Given the description of an element on the screen output the (x, y) to click on. 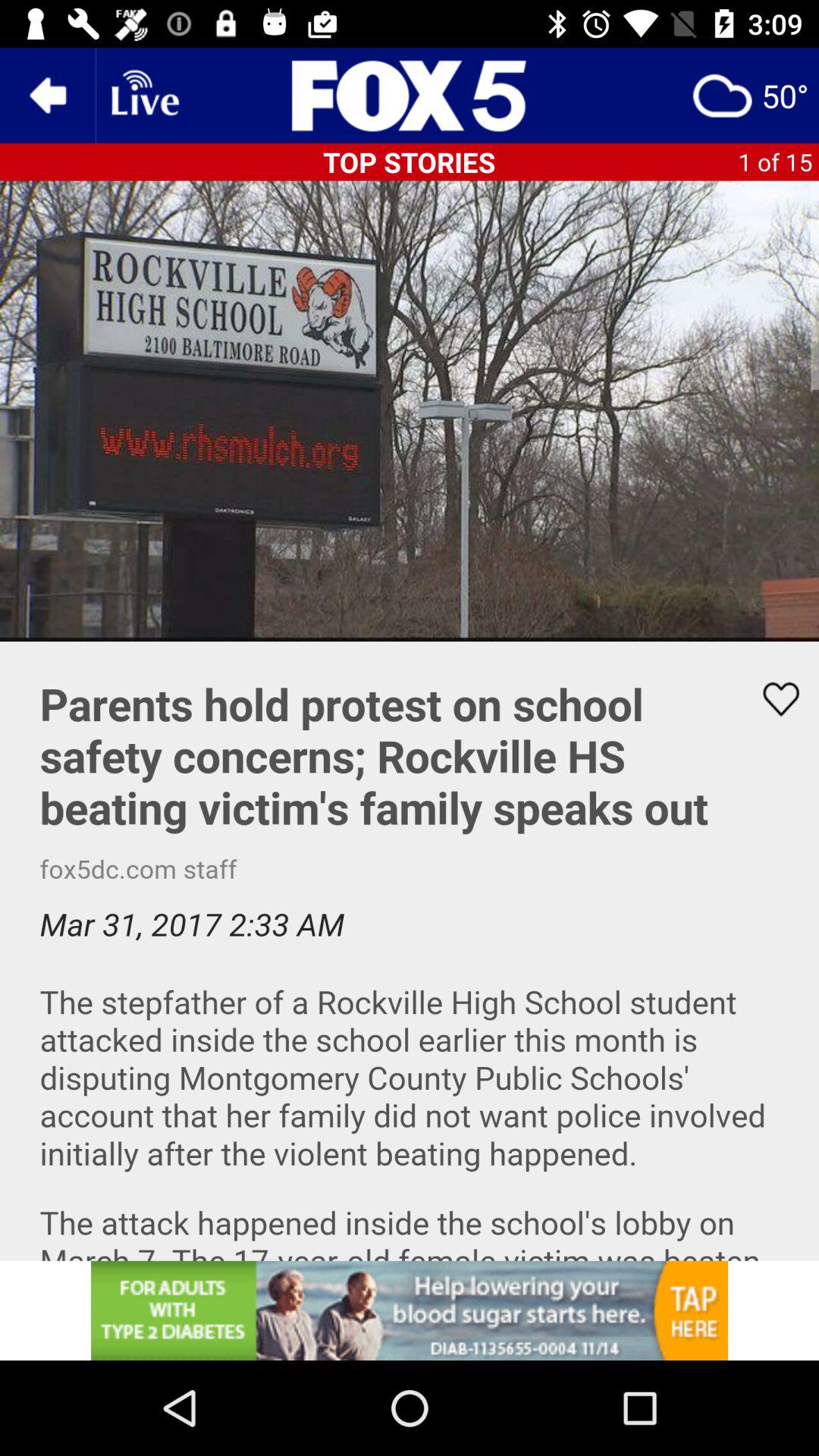
view advertisement (409, 1310)
